Given the description of an element on the screen output the (x, y) to click on. 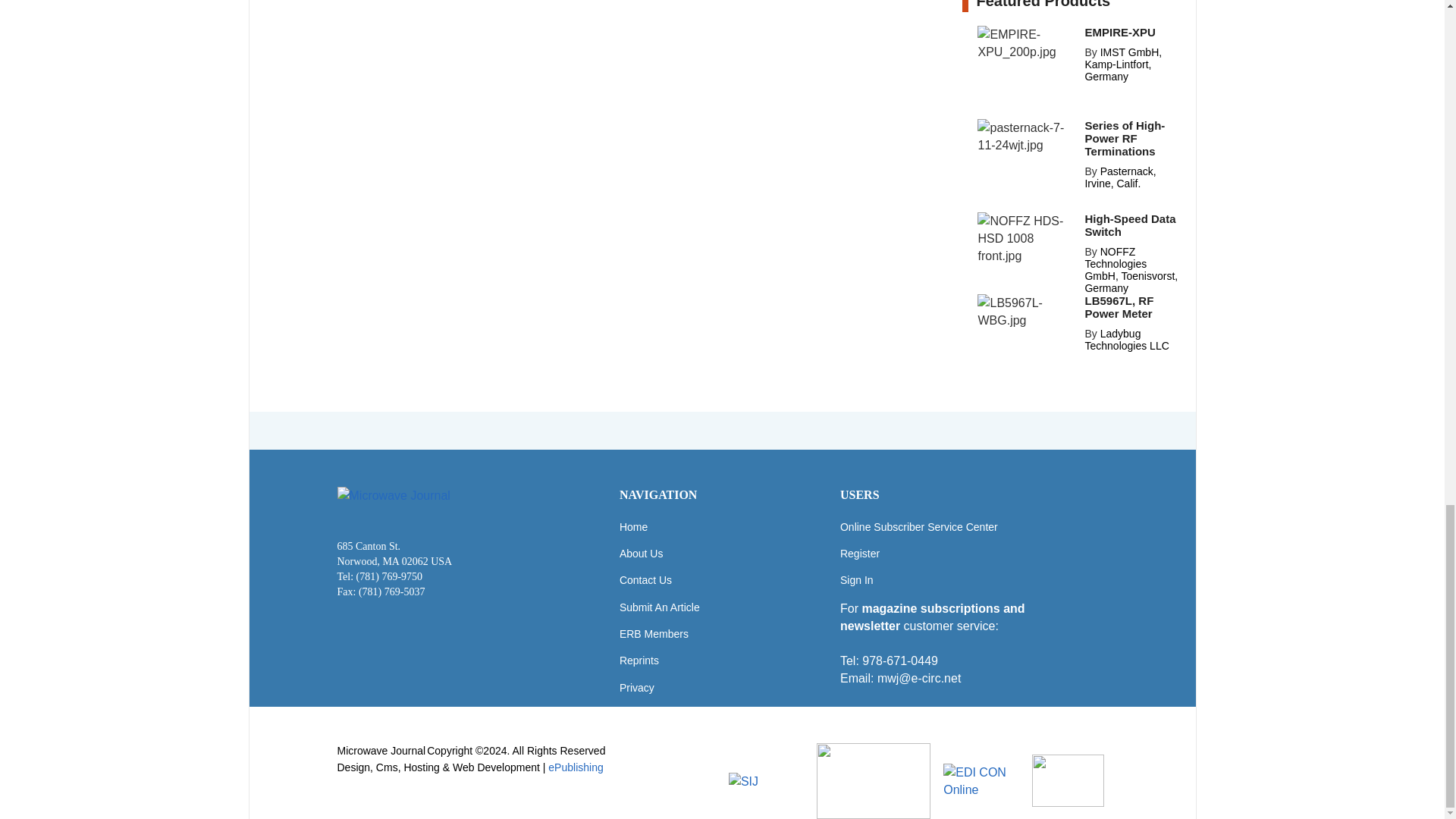
LB5967L-WBG.jpg (1025, 311)
NOFFZ HDS-HSD 1008 front.jpg (1025, 238)
pasternack-7-11-24wjt.jpg (1025, 135)
